Given the description of an element on the screen output the (x, y) to click on. 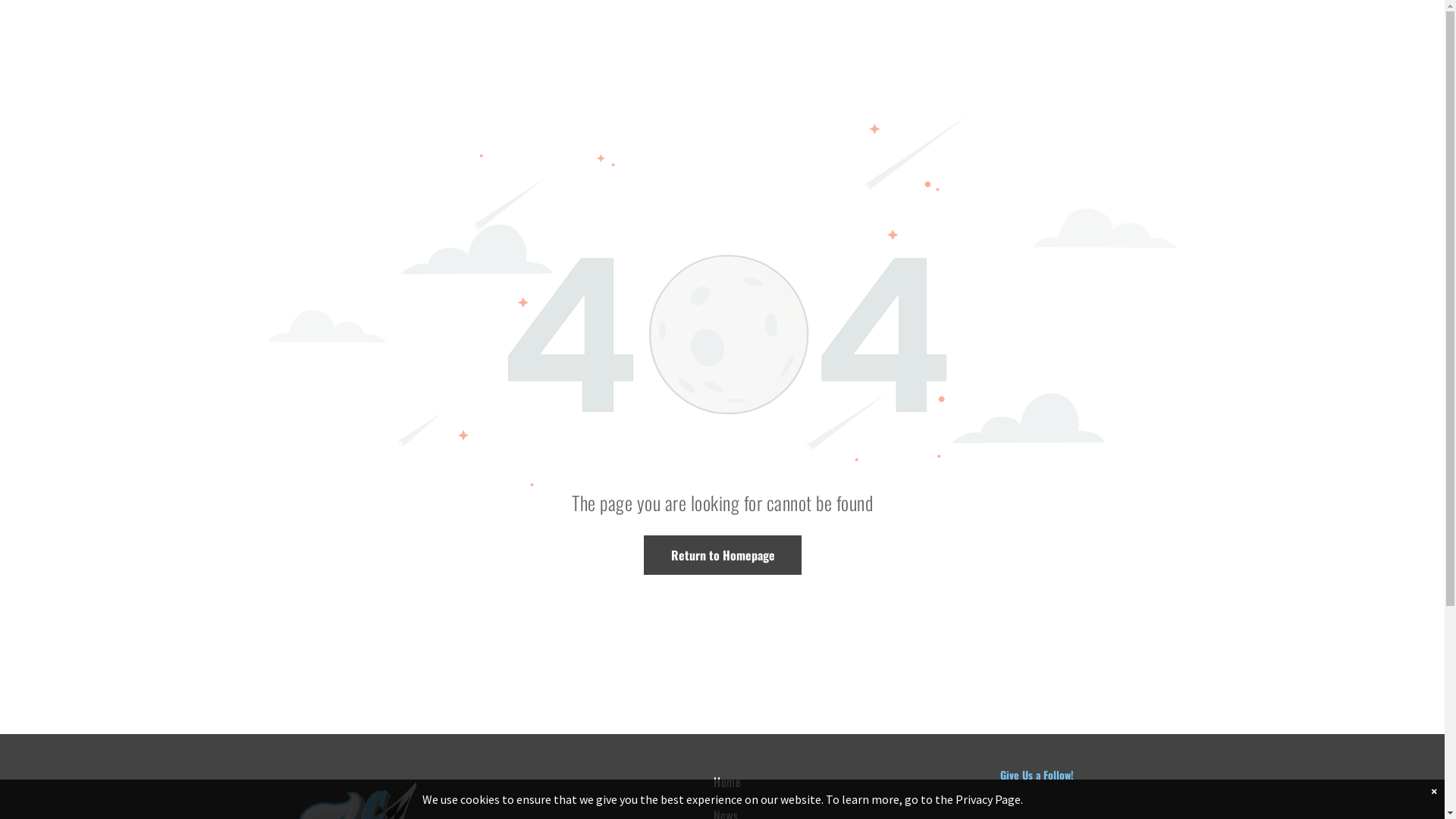
Home Element type: text (820, 781)
Return to Homepage Element type: text (721, 554)
